Given the description of an element on the screen output the (x, y) to click on. 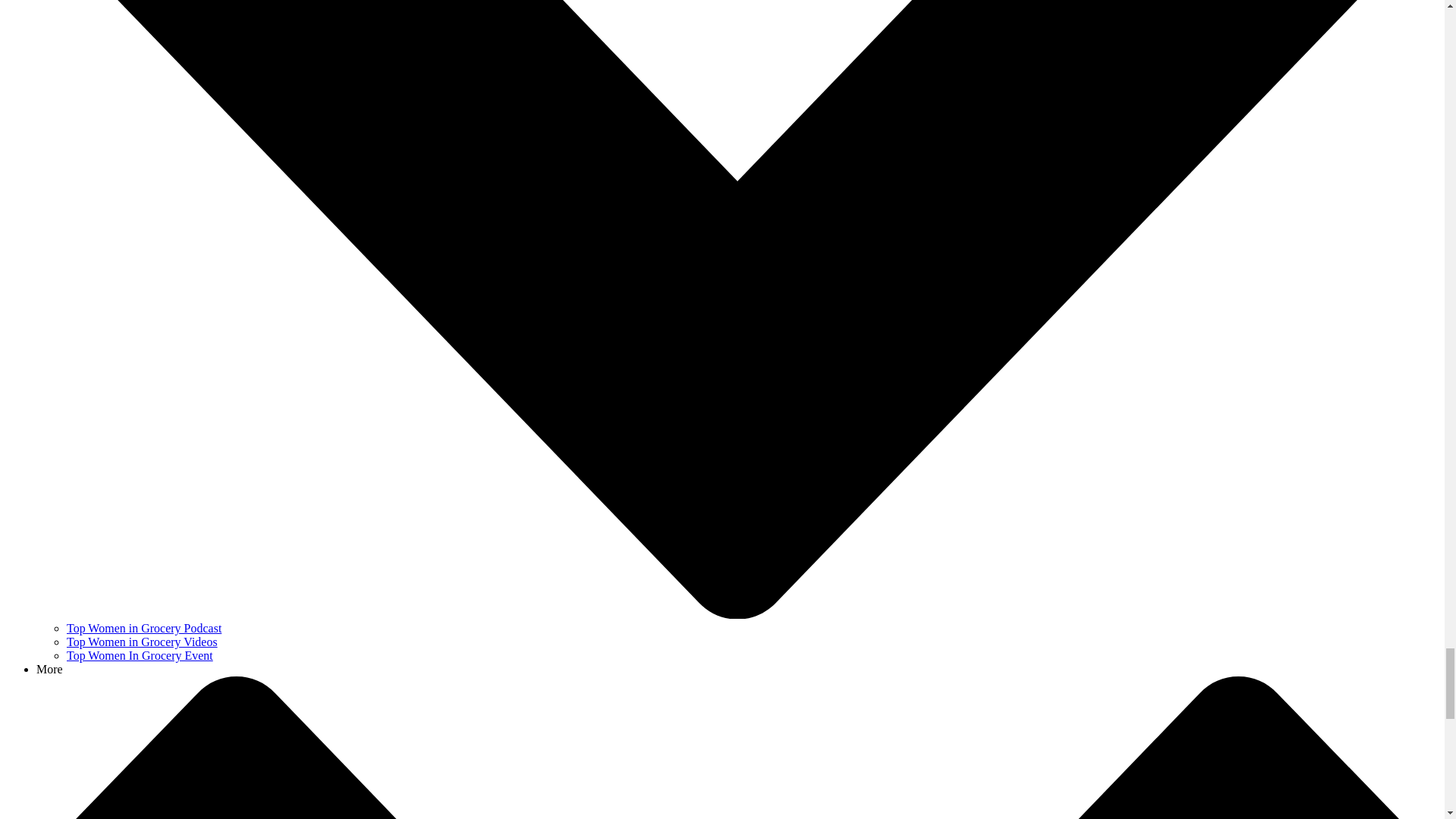
Top Women in Grocery Videos (141, 641)
Top Women In Grocery Event (139, 655)
More (49, 668)
Top Women in Grocery Podcast (143, 627)
